Given the description of an element on the screen output the (x, y) to click on. 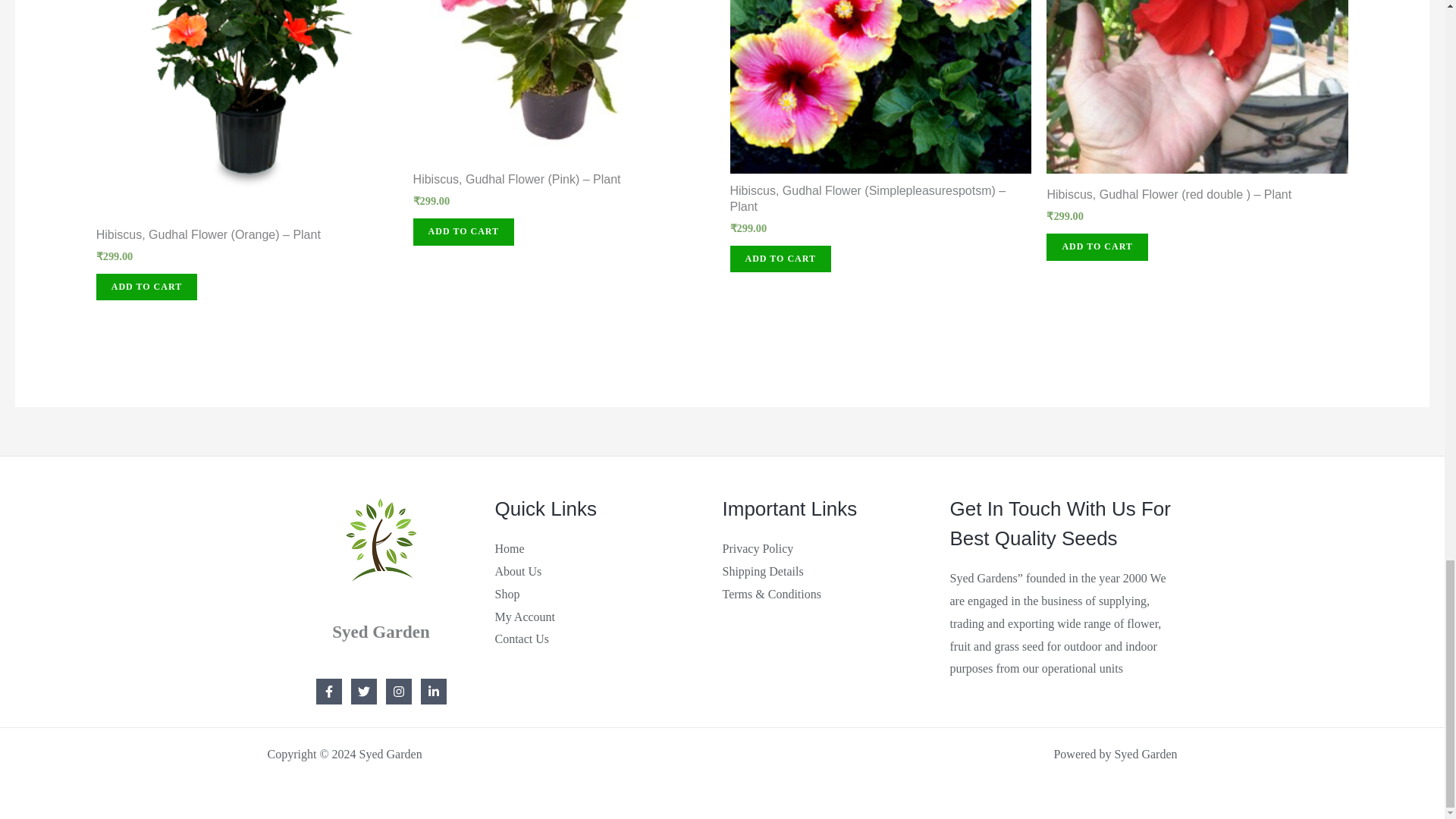
ADD TO CART (463, 231)
ADD TO CART (146, 287)
